Given the description of an element on the screen output the (x, y) to click on. 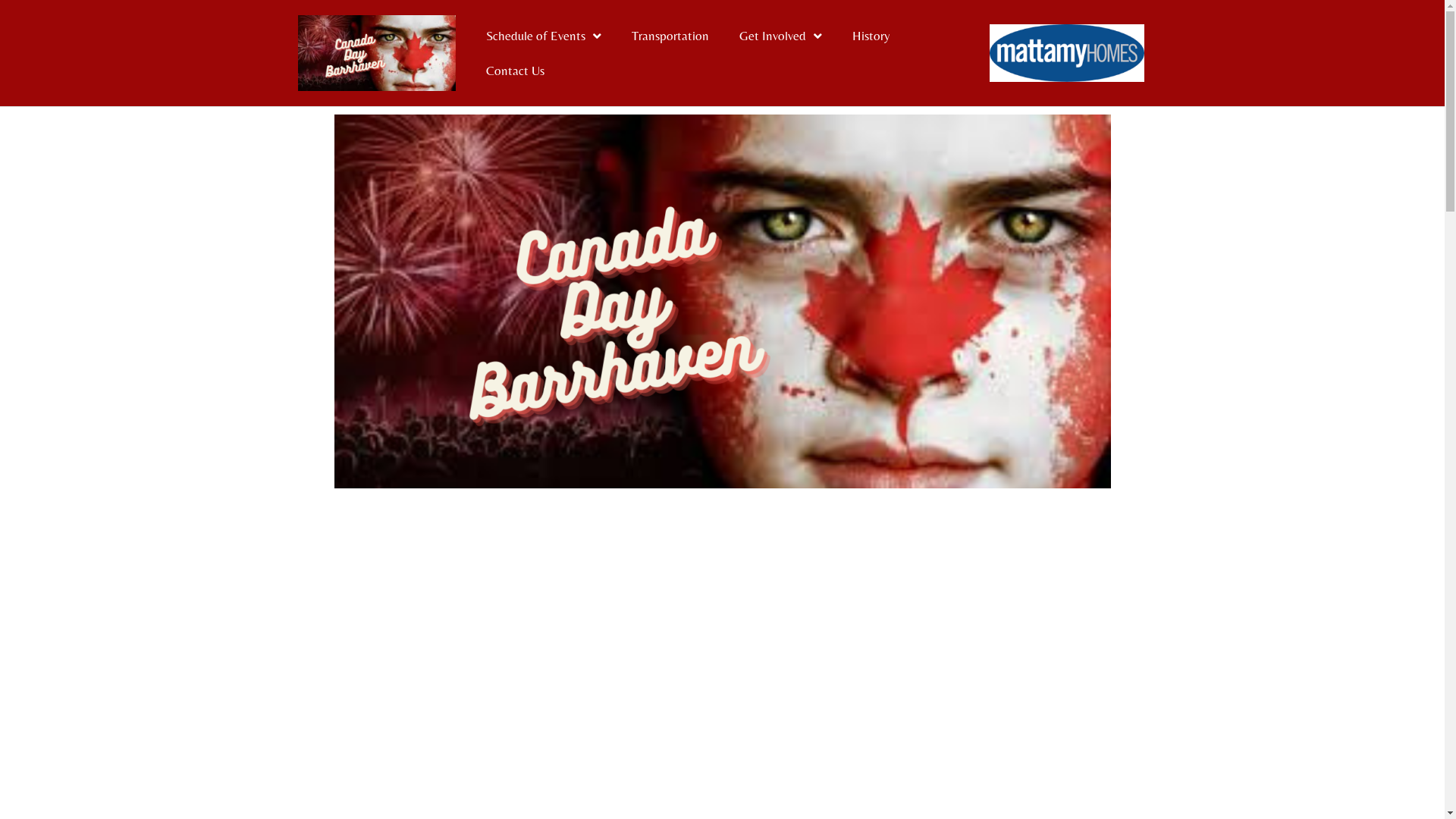
History Element type: text (871, 35)
Get Involved Element type: text (779, 35)
Schedule of Events Element type: text (542, 35)
Transportation Element type: text (669, 35)
Contact Us Element type: text (514, 70)
